Given the description of an element on the screen output the (x, y) to click on. 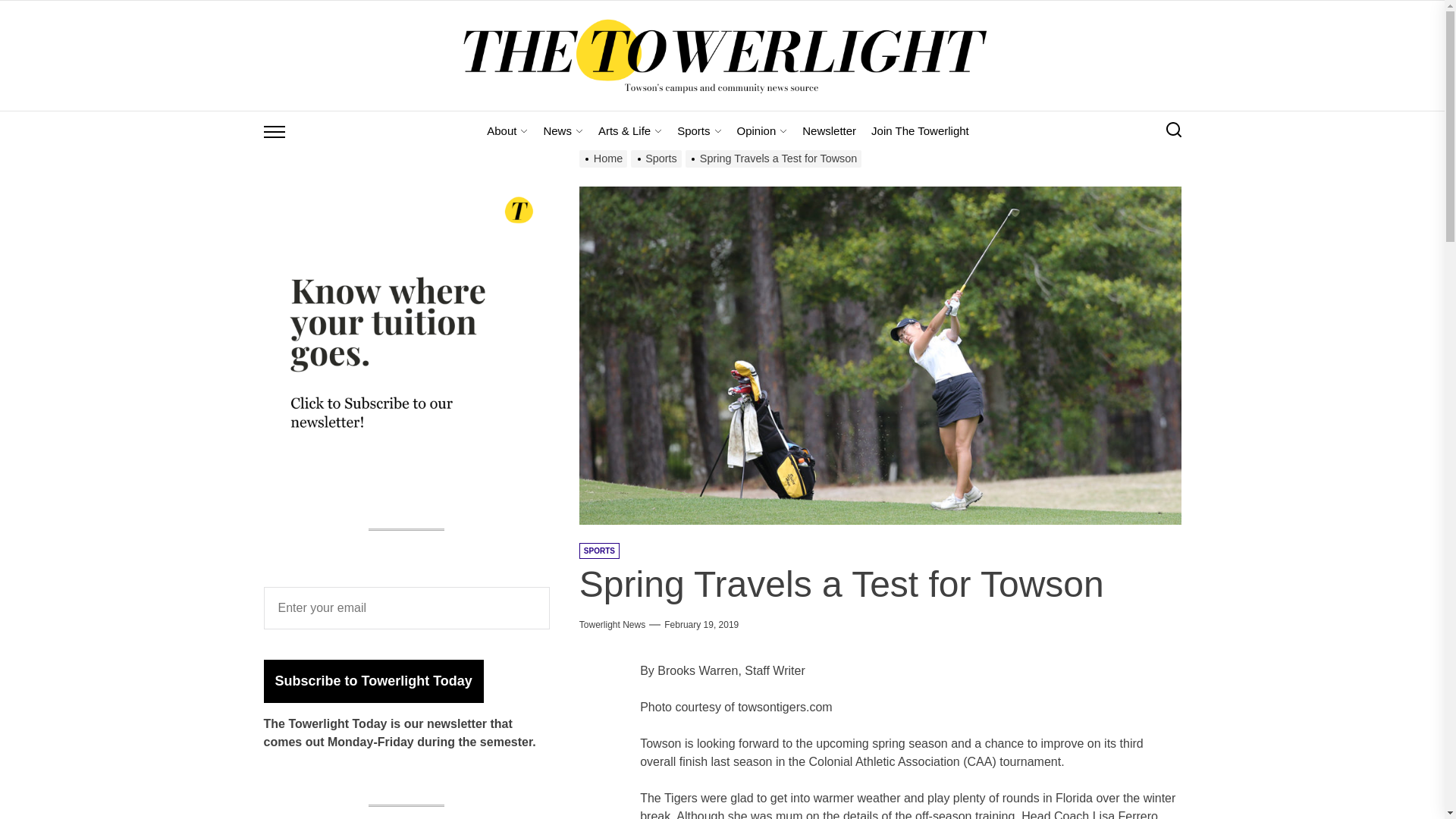
Opinion (761, 131)
Sports (699, 131)
About (507, 131)
News (563, 131)
